Given the description of an element on the screen output the (x, y) to click on. 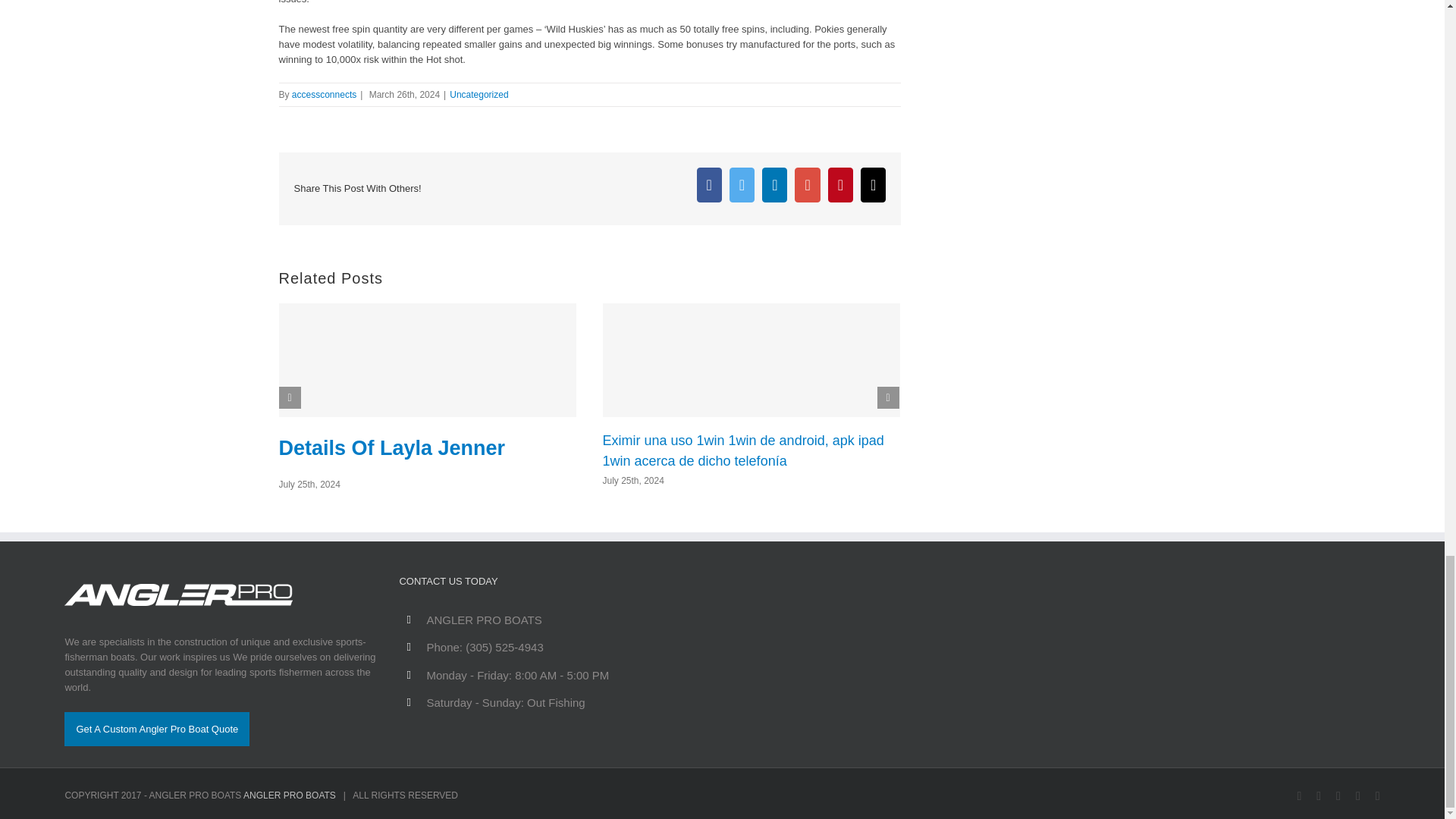
Posts by accessconnects (324, 94)
